Given the description of an element on the screen output the (x, y) to click on. 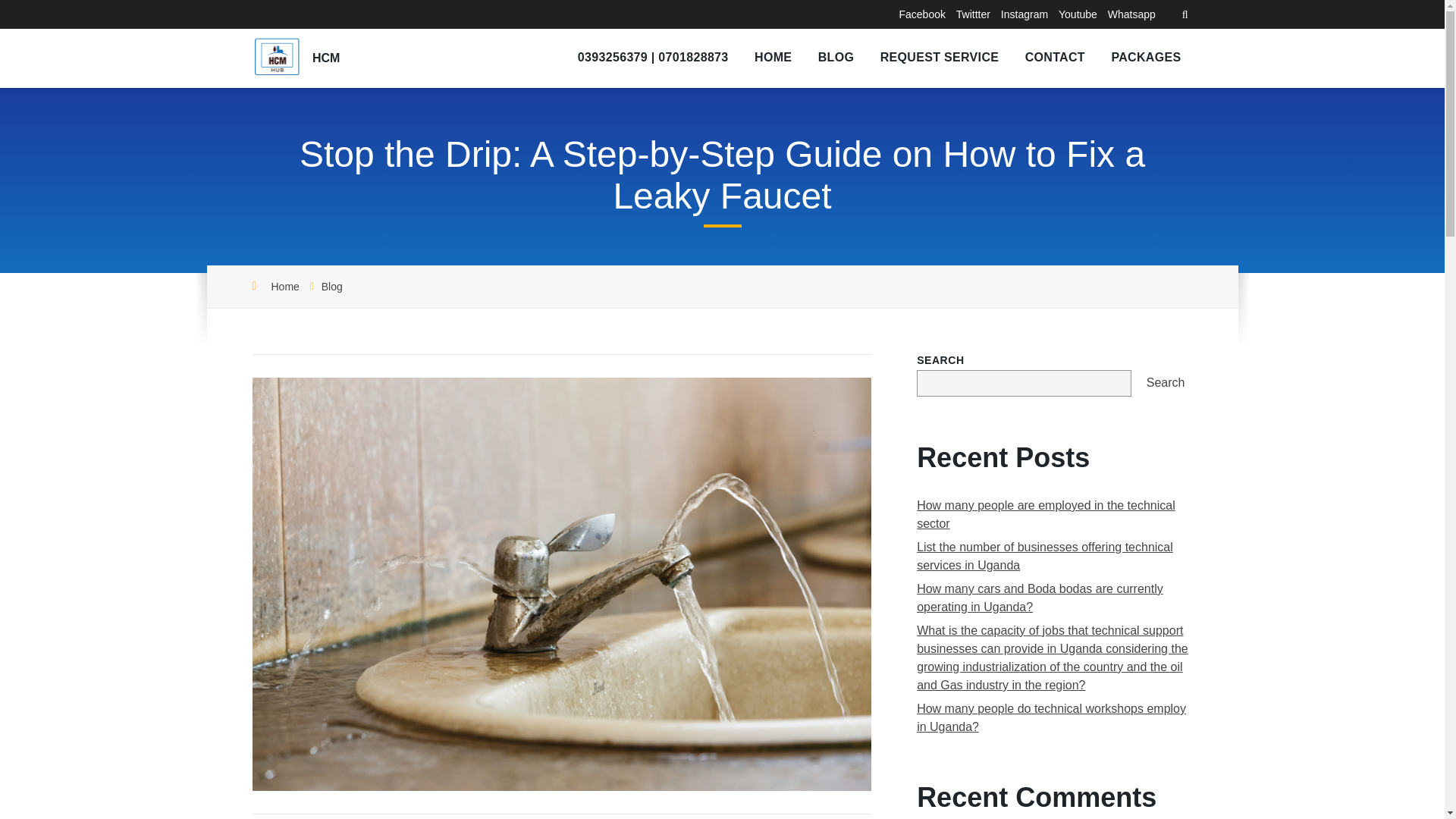
Search (1165, 383)
Whatsapp (1132, 14)
Home (284, 286)
REQUEST SERVICE (939, 58)
Twittter (973, 14)
Instagram (1024, 14)
BLOG (836, 58)
Blog (331, 286)
Youtube (1077, 14)
Facebook (921, 14)
HCM (326, 57)
PACKAGES (1145, 58)
HOME (772, 58)
